Given the description of an element on the screen output the (x, y) to click on. 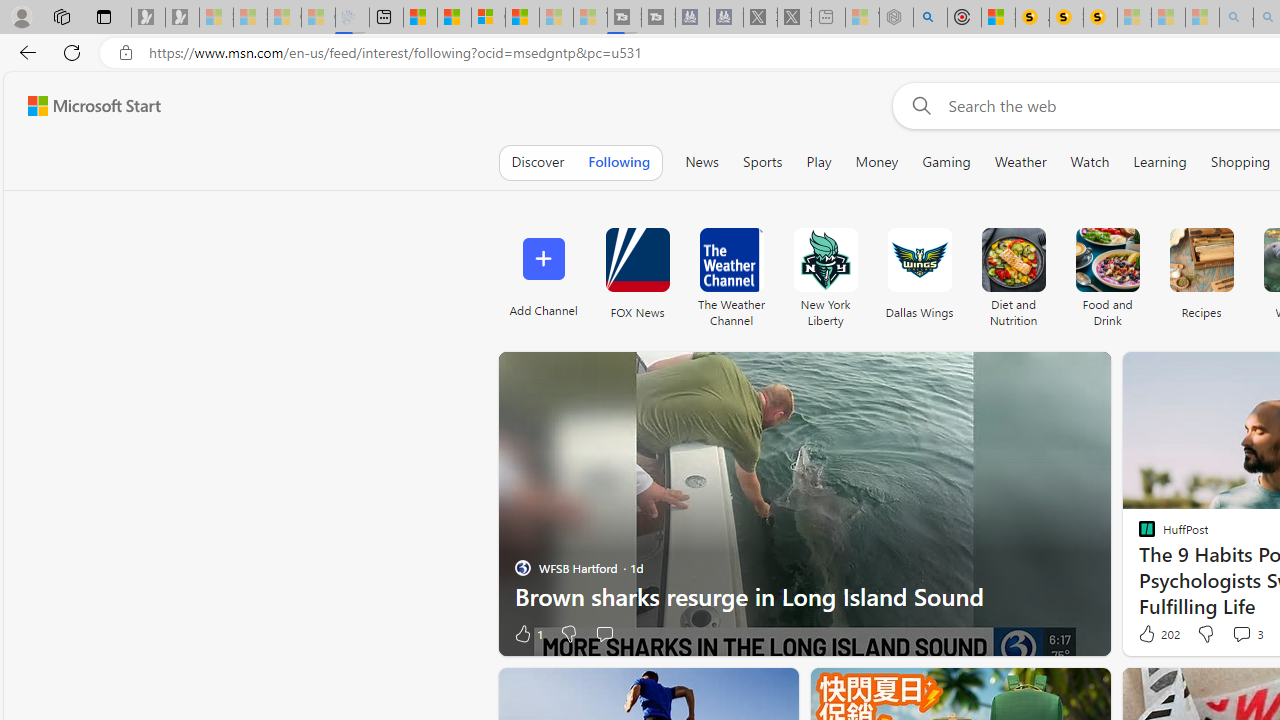
Food and Drink (1107, 272)
Nordace - Summer Adventures 2024 - Sleeping (895, 17)
New York Liberty (825, 260)
View comments 3 Comment (1241, 633)
Weather (1020, 161)
Dallas Wings (919, 260)
Skip to footer (82, 105)
Diet and Nutrition (1012, 260)
1 Like (527, 633)
Dallas Wings (919, 272)
